Given the description of an element on the screen output the (x, y) to click on. 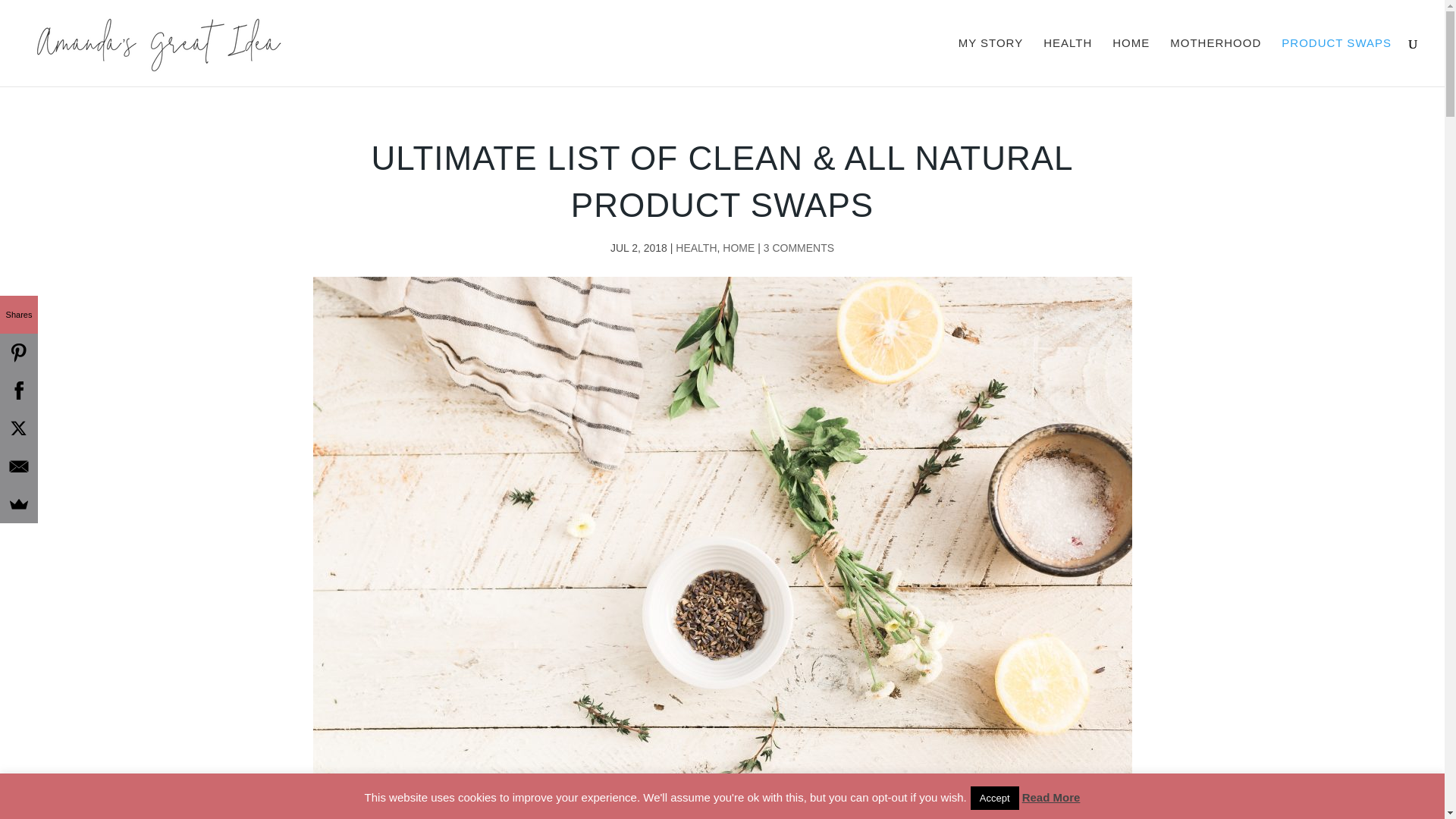
SumoMe (18, 504)
HEALTH (695, 247)
PRODUCT SWAPS (1336, 61)
3 COMMENTS (798, 247)
MOTHERHOOD (1215, 61)
MY STORY (990, 61)
HOME (738, 247)
Facebook (18, 390)
HEALTH (1067, 61)
Pinterest (18, 352)
